Given the description of an element on the screen output the (x, y) to click on. 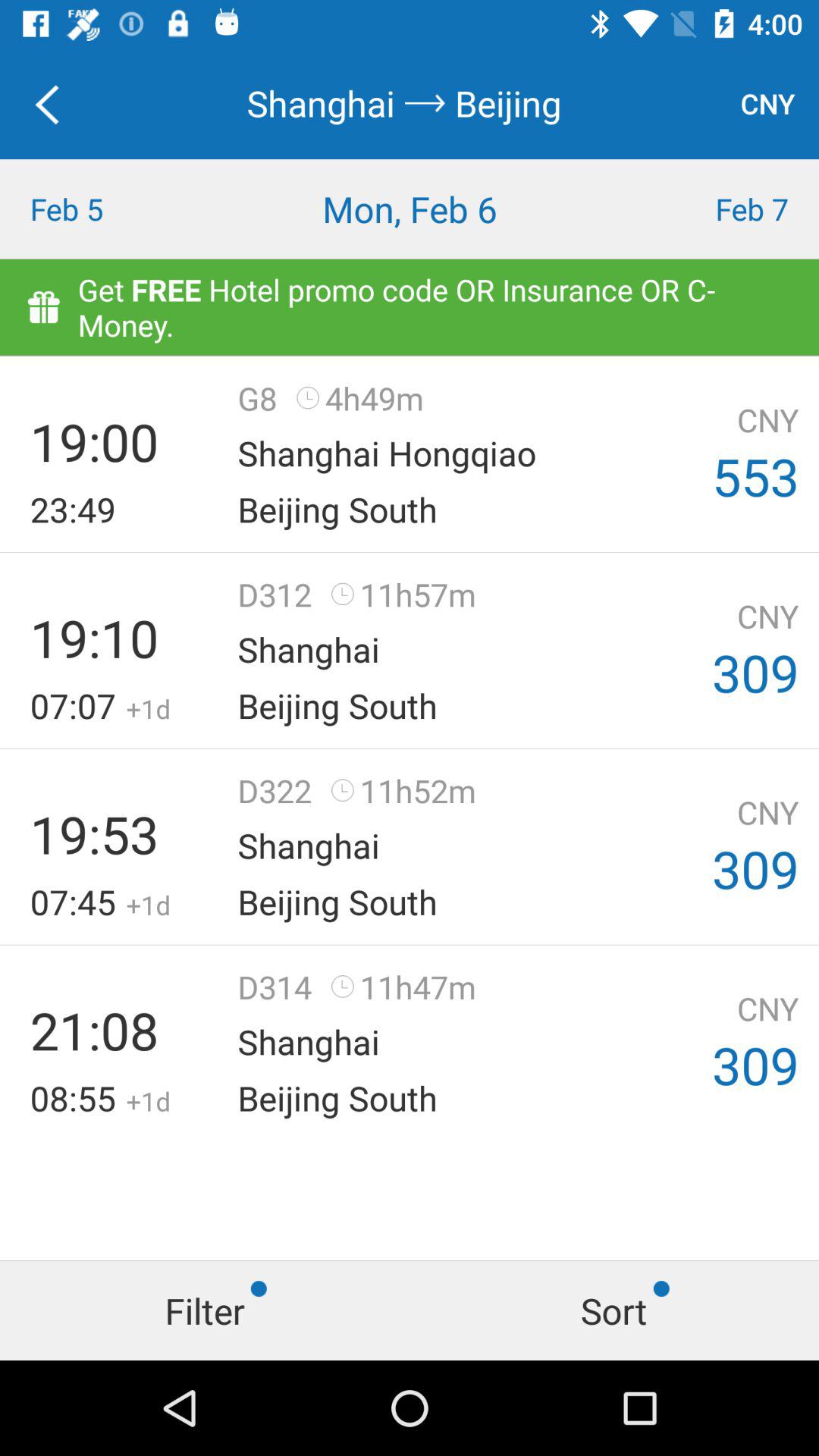
launch the feb 5 icon (102, 208)
